Given the description of an element on the screen output the (x, y) to click on. 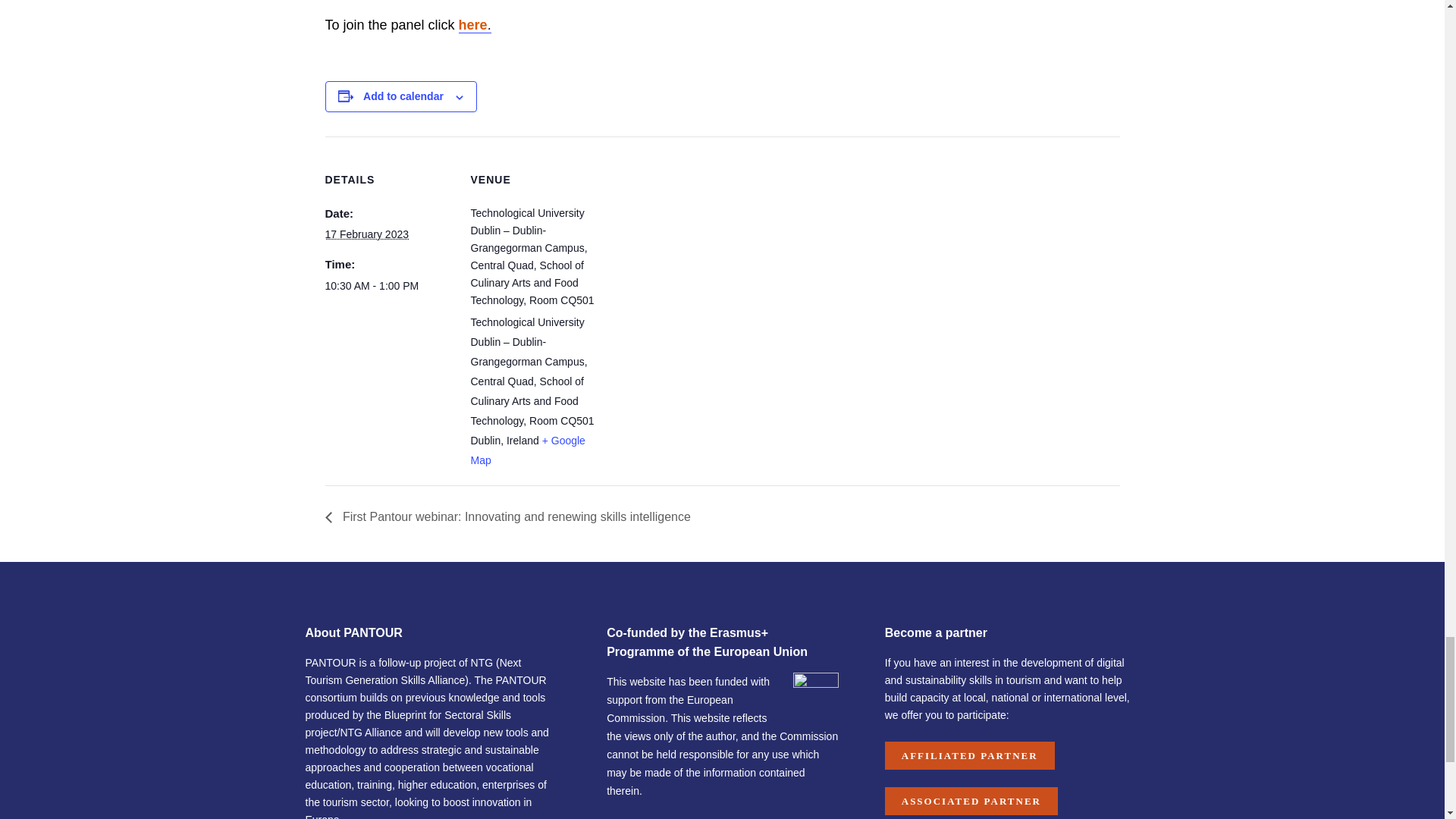
2023-02-17 (366, 234)
2023-02-17 (387, 285)
Click to view a Google Map (527, 450)
